Given the description of an element on the screen output the (x, y) to click on. 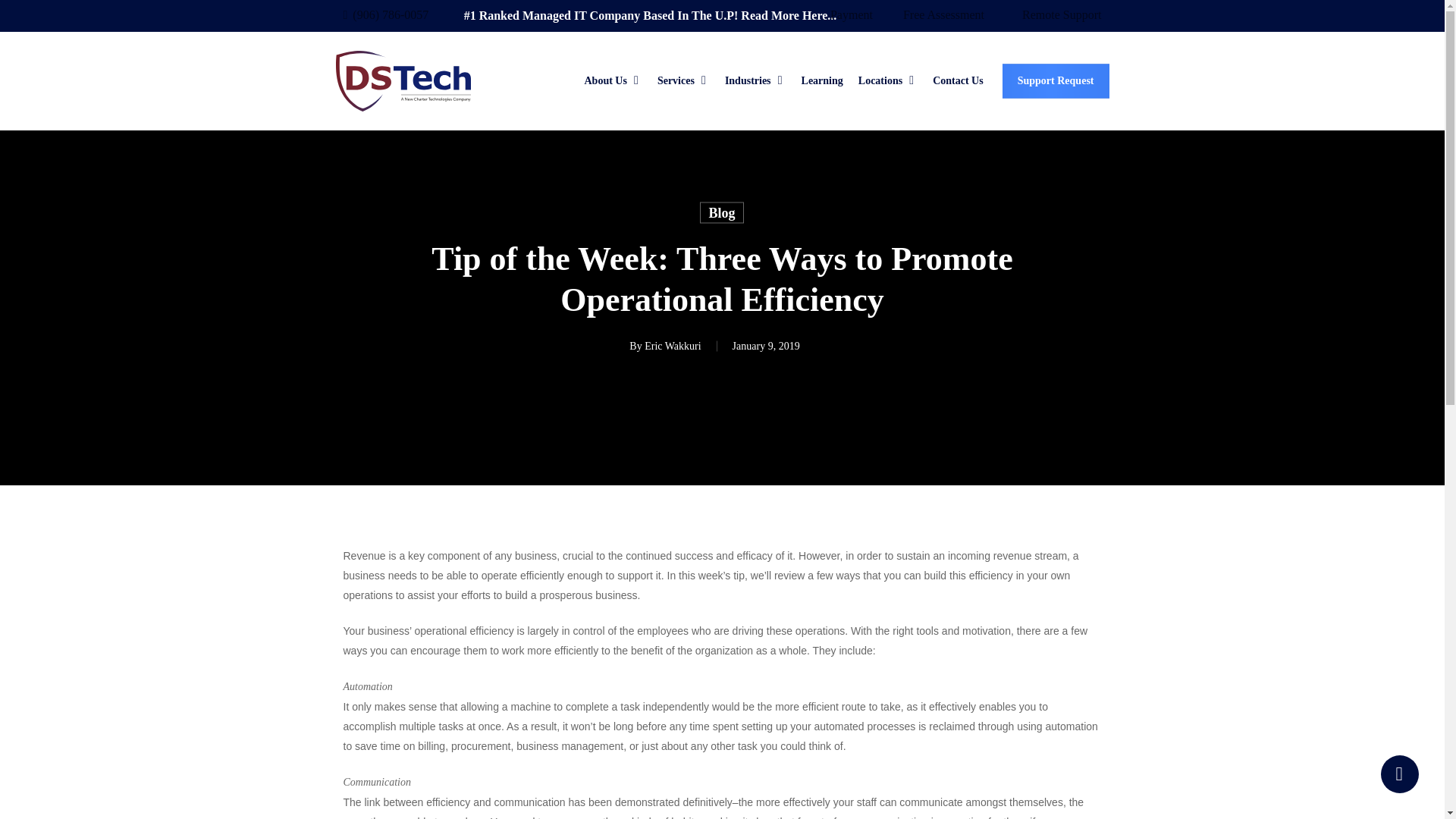
Remote Support (1061, 14)
Services (684, 80)
Payment (850, 14)
Locations (888, 80)
Posts by Eric Wakkuri (672, 345)
About Us (612, 80)
Free Assessment (943, 14)
Industries (755, 80)
Learning (822, 80)
